Given the description of an element on the screen output the (x, y) to click on. 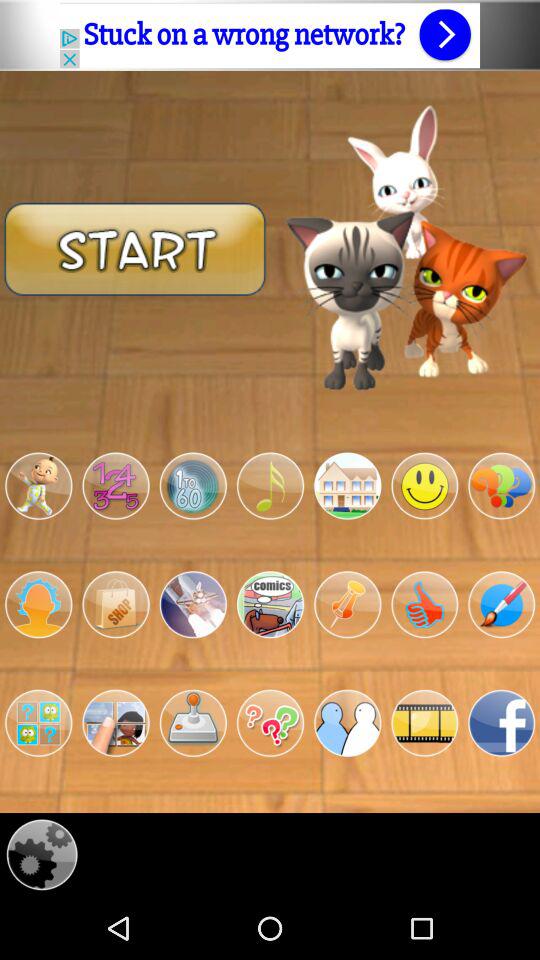
select a category (270, 485)
